Given the description of an element on the screen output the (x, y) to click on. 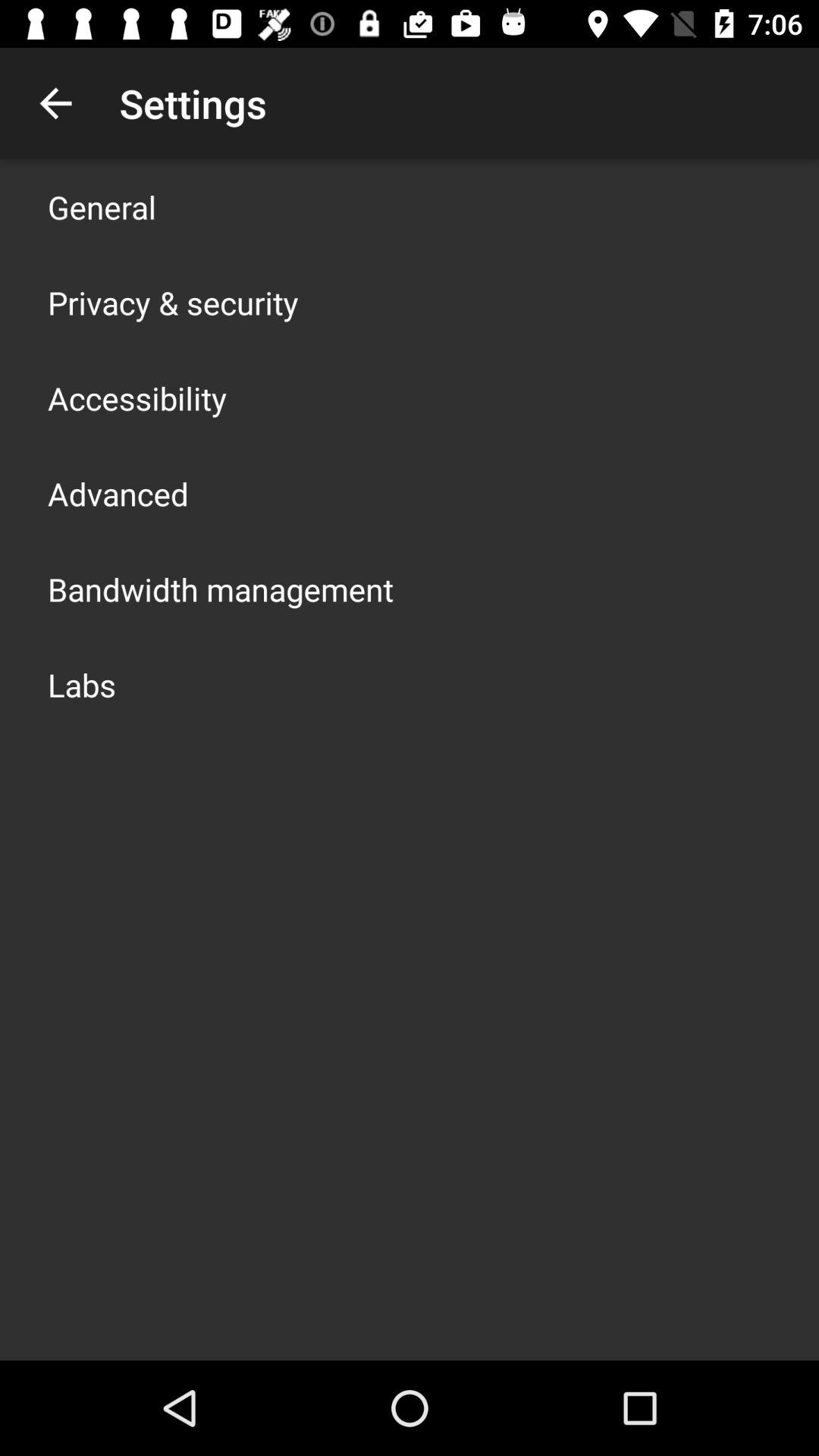
choose icon above labs app (220, 588)
